Given the description of an element on the screen output the (x, y) to click on. 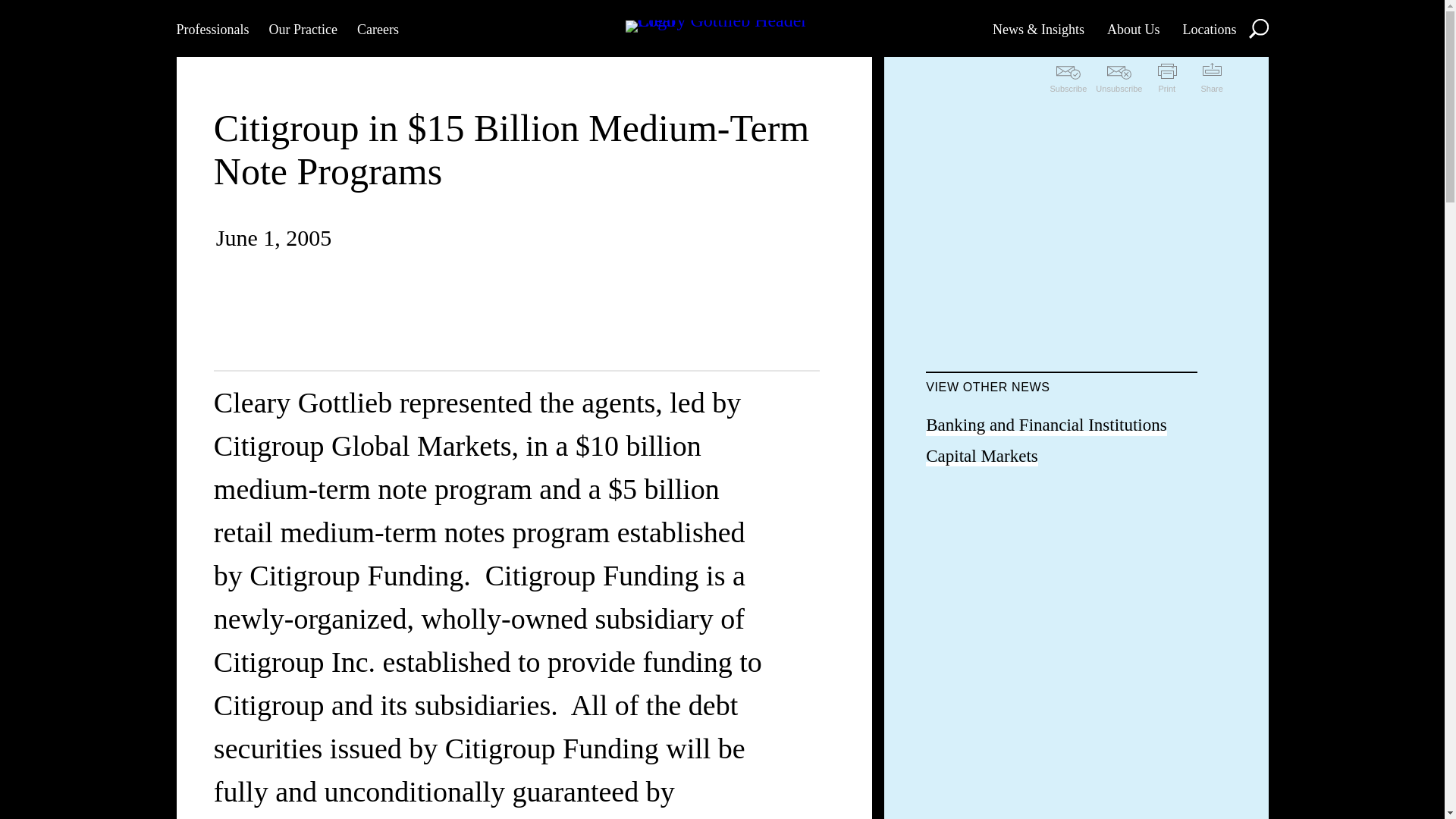
About Us (1133, 28)
Home (721, 28)
Search (1257, 27)
Our Practice (301, 28)
Locations (1209, 28)
Professionals (212, 28)
About Us (1133, 28)
Professionals (212, 28)
Locations (1209, 28)
Our Practice (301, 28)
